Given the description of an element on the screen output the (x, y) to click on. 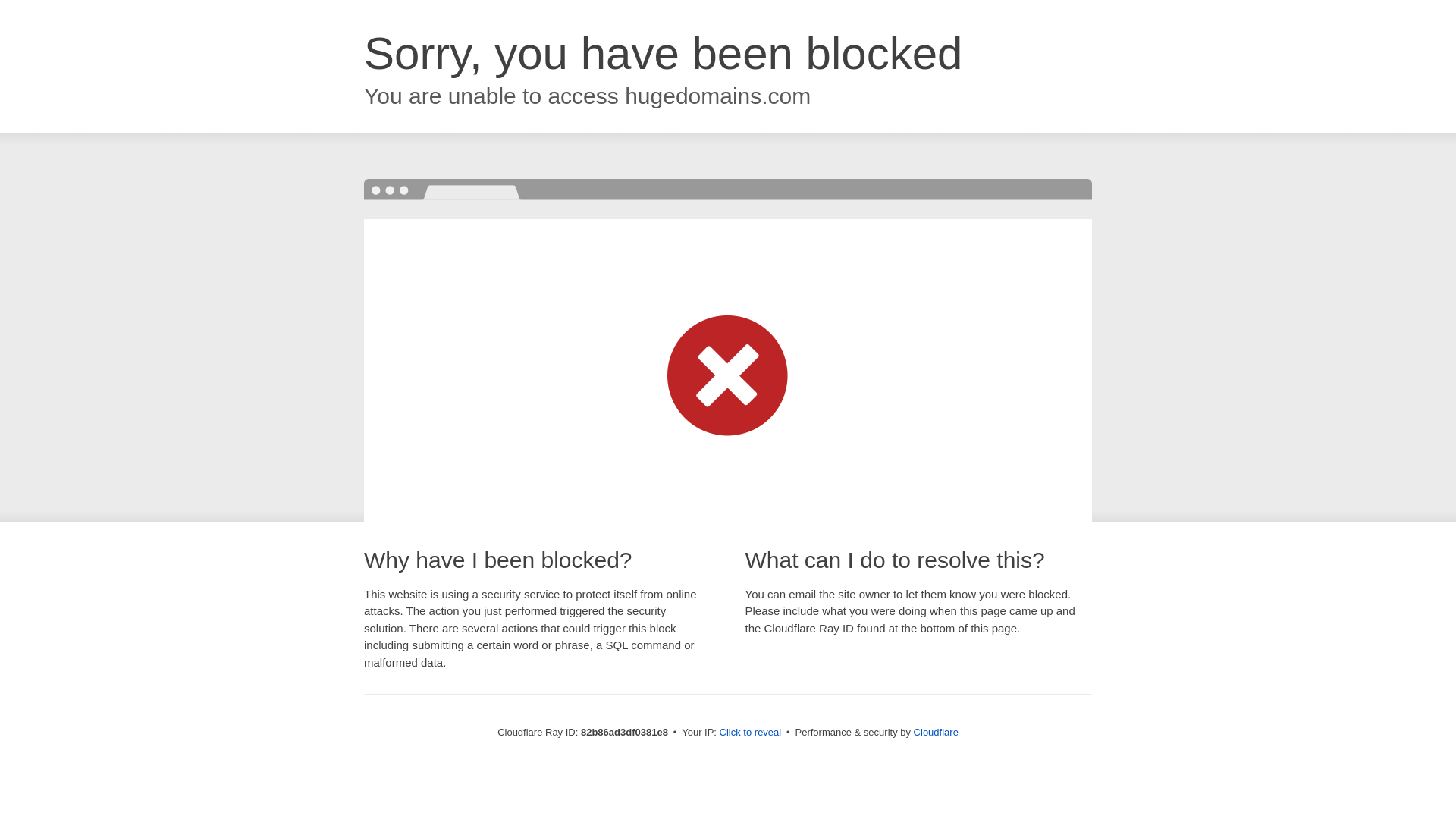
Click to reveal Element type: text (750, 732)
Cloudflare Element type: text (935, 731)
